Given the description of an element on the screen output the (x, y) to click on. 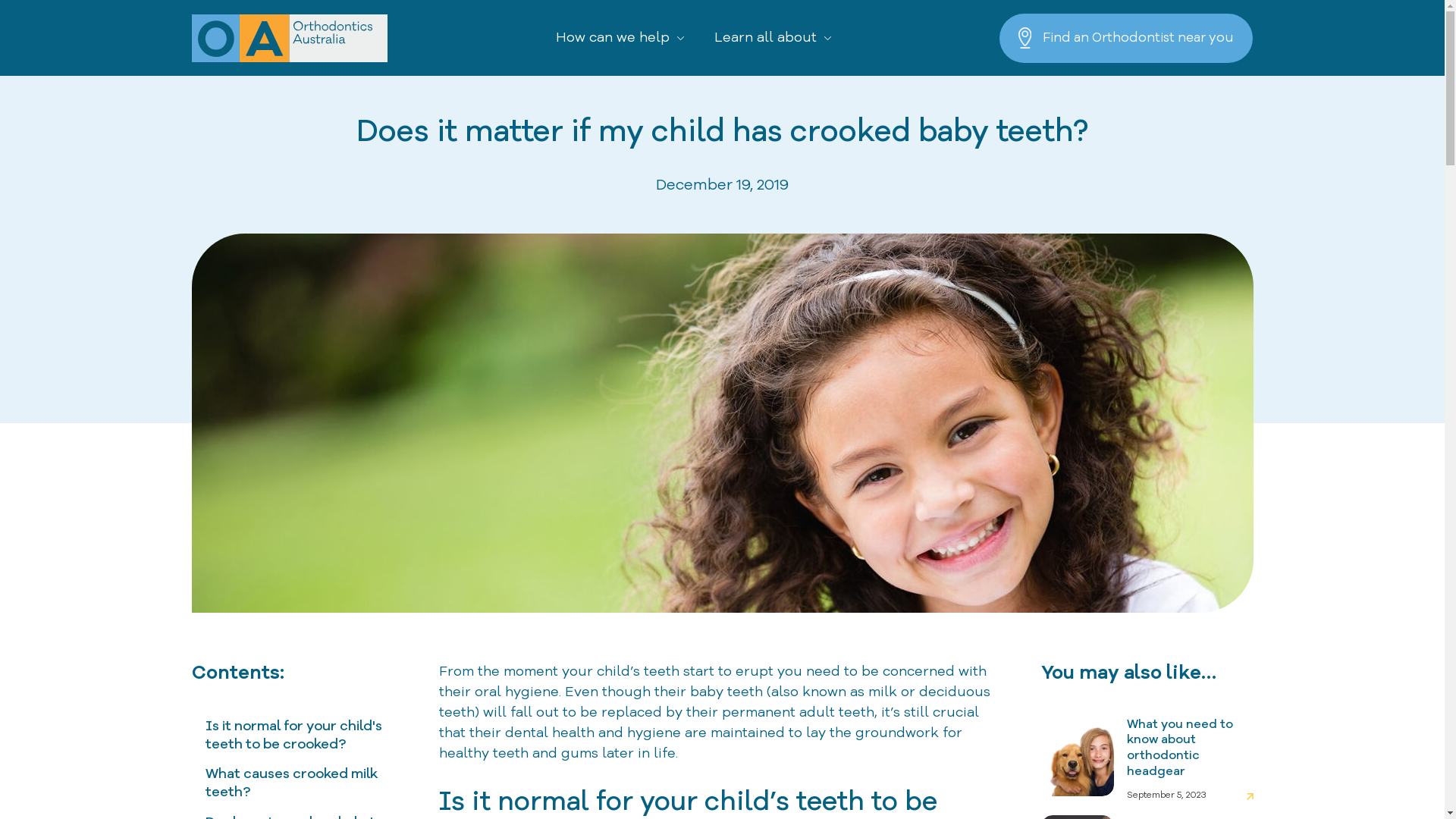
What causes crooked milk teeth? Element type: text (290, 783)
Is it normal for your child's teeth to be crooked? Element type: text (292, 734)
What you need to know about orthodontic headgear Element type: text (1189, 748)
How can we help Element type: text (619, 37)
Learn all about Element type: text (772, 37)
Find an Orthodontist near you Element type: text (1125, 37)
